Given the description of an element on the screen output the (x, y) to click on. 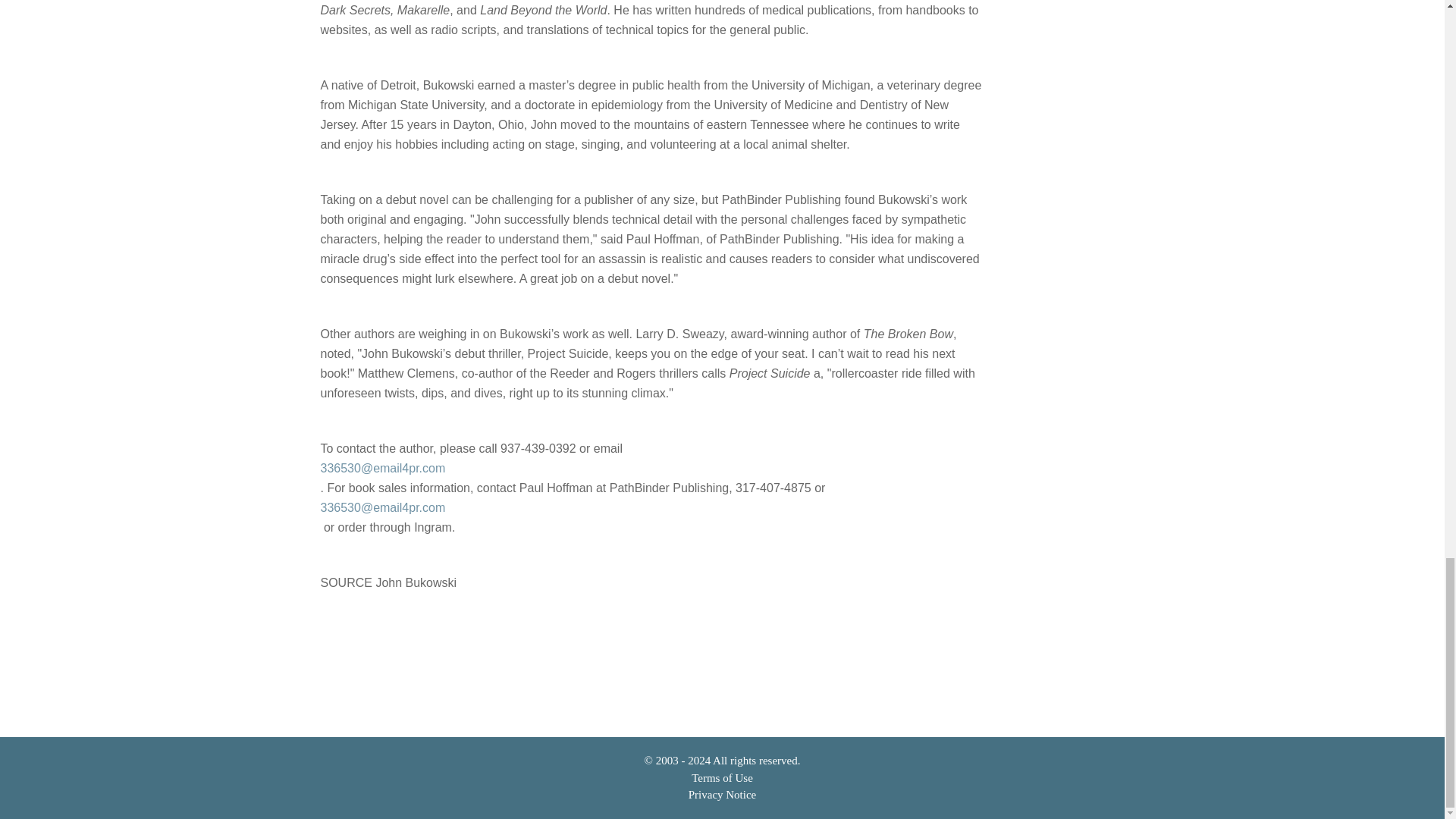
Terms of Use (721, 777)
Privacy Notice (722, 794)
